Given the description of an element on the screen output the (x, y) to click on. 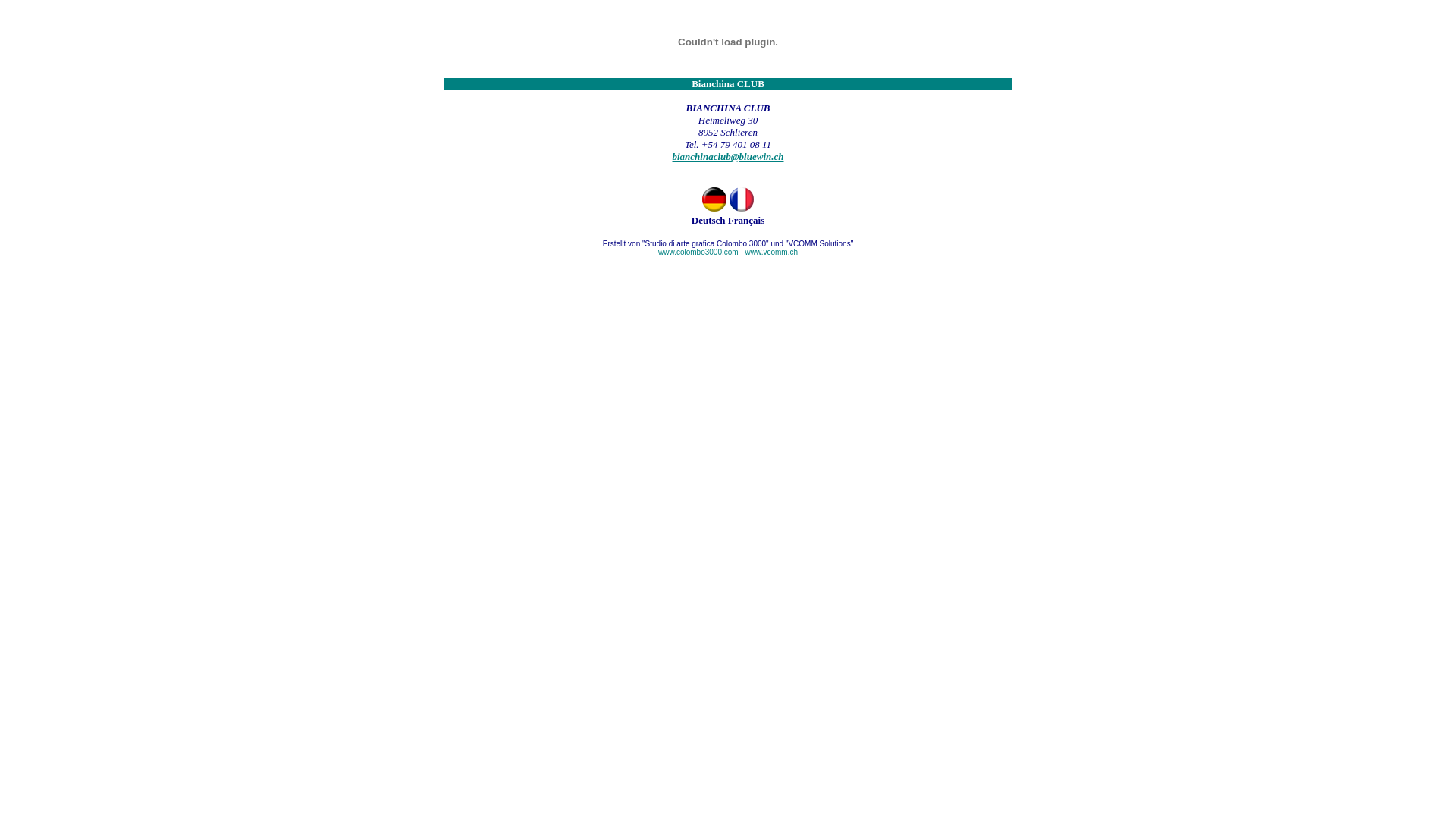
www.vcomm.ch Element type: text (771, 251)
bianchinaclub@bluewin.ch Element type: text (727, 156)
www.colombo3000.com Element type: text (755, 255)
